Given the description of an element on the screen output the (x, y) to click on. 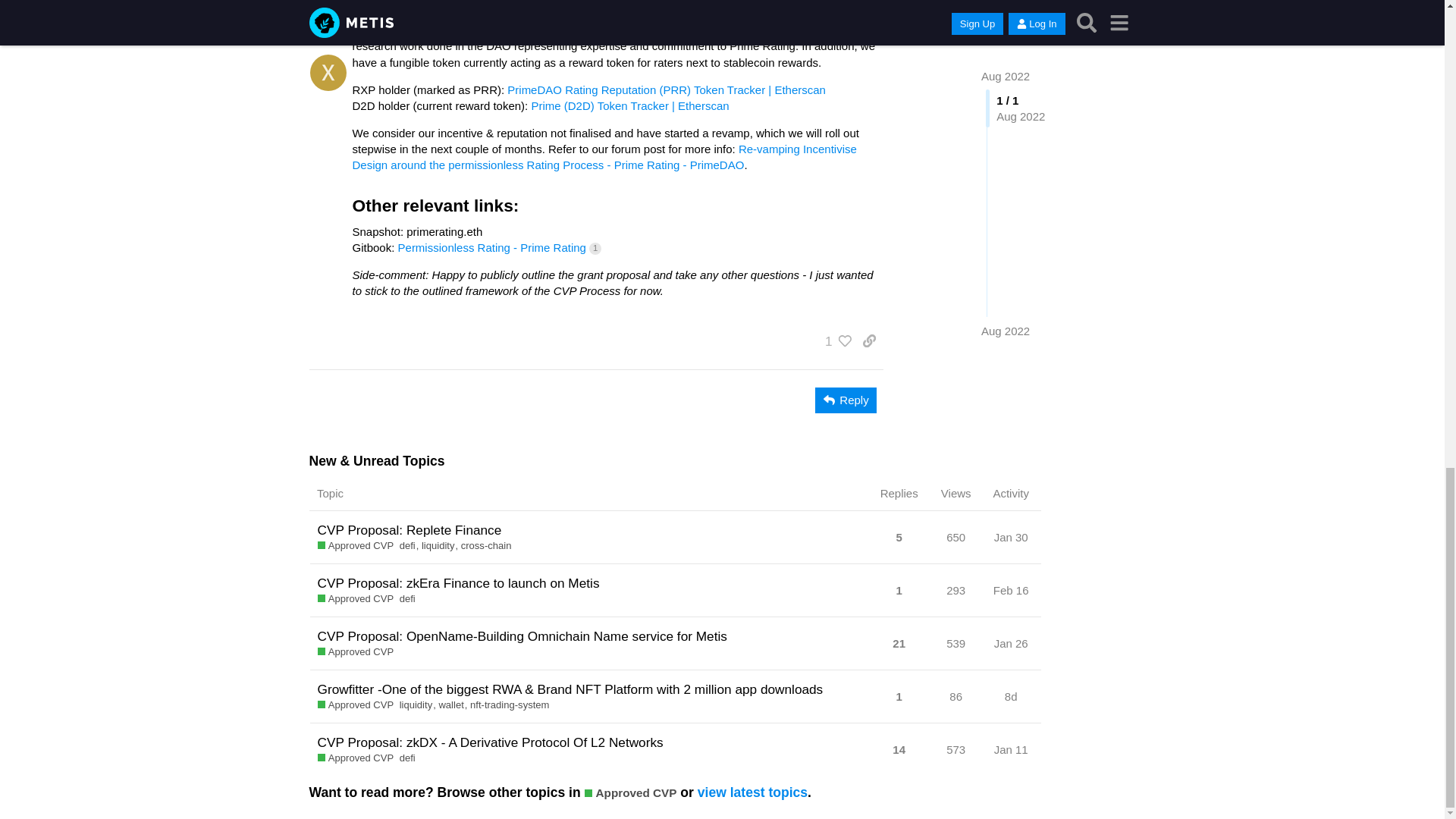
copy a link to this post to clipboard (869, 340)
Jan 30 (1011, 537)
1 click (595, 248)
Approved CVP (355, 545)
liquidity (441, 545)
this topic has been viewed 650 times (955, 536)
This topic has 5 replies (898, 542)
Proposals approved by the Community with a Snapshot vote (355, 545)
Reply (846, 400)
1 (833, 340)
cross-chain (486, 545)
CVP Proposal: Replete Finance (408, 529)
defi (410, 545)
1 person liked this post (833, 340)
